Given the description of an element on the screen output the (x, y) to click on. 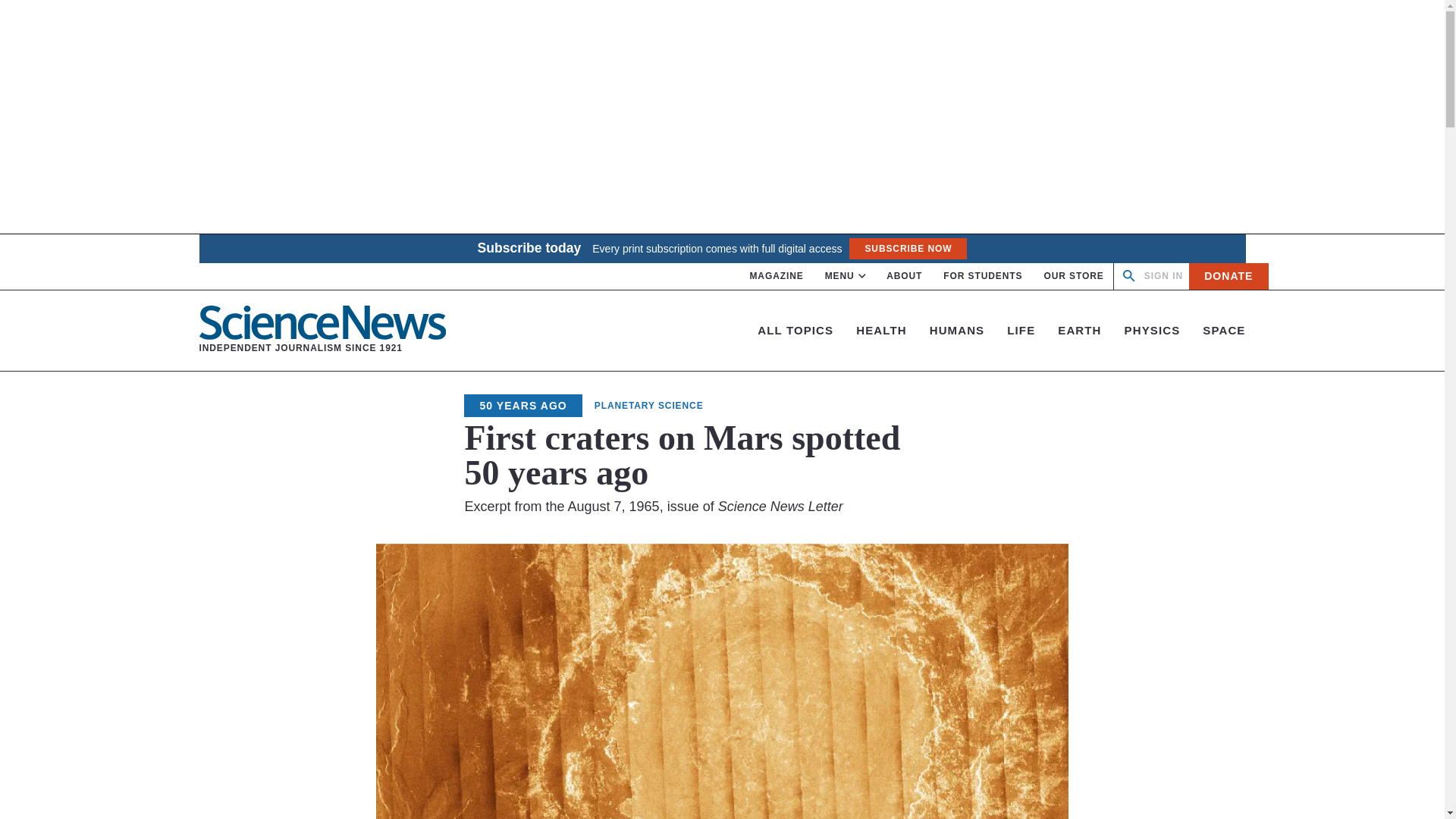
MENU (845, 275)
MAGAZINE (776, 275)
SUBSCRIBE NOW (907, 248)
FOR STUDENTS (982, 275)
ABOUT (903, 275)
DONATE (321, 330)
SIGN IN (1228, 275)
OUR STORE (1163, 275)
ALL TOPICS (1073, 275)
